Given the description of an element on the screen output the (x, y) to click on. 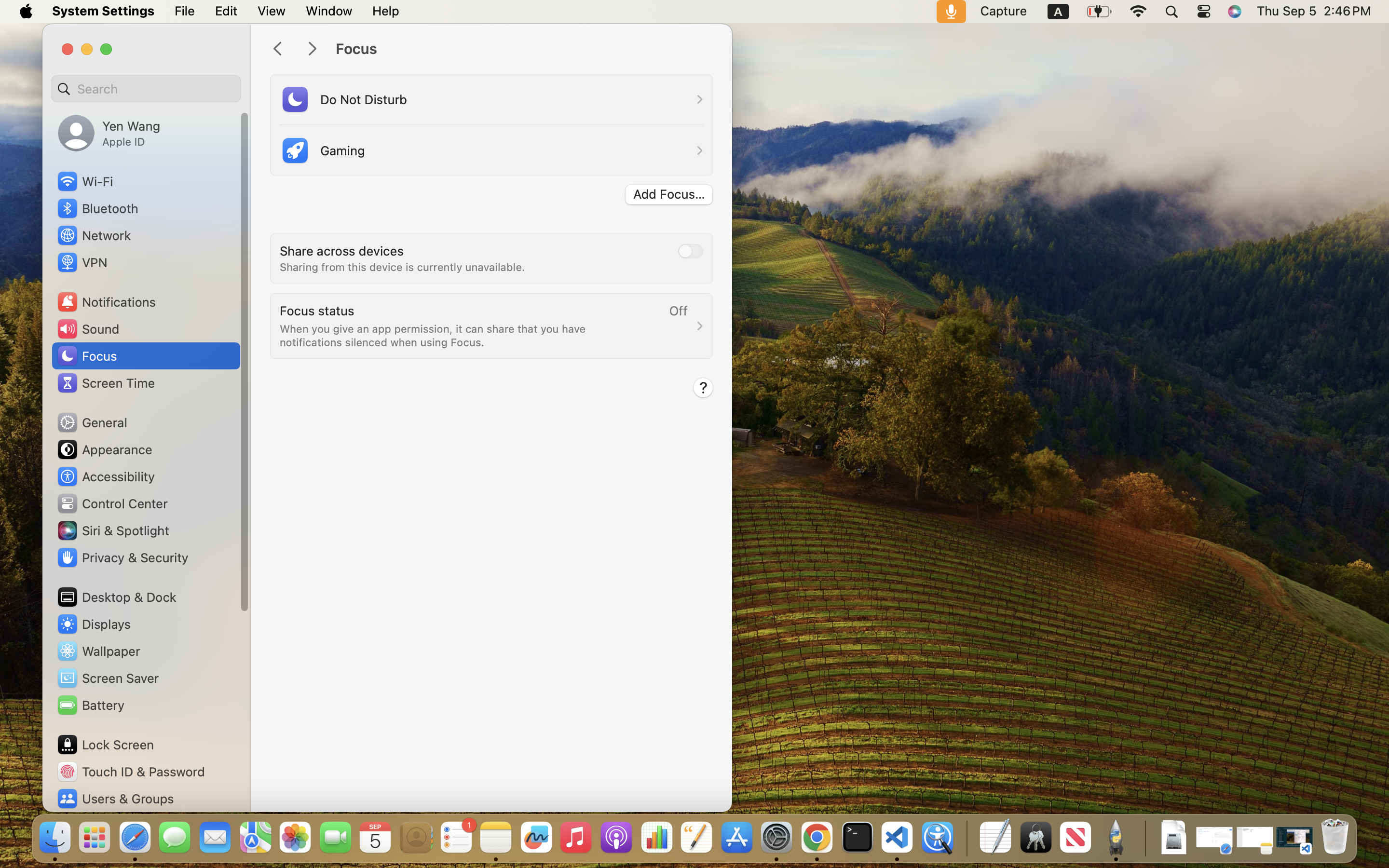
Accessibility Element type: AXStaticText (105, 476)
Wi‑Fi Element type: AXStaticText (83, 180)
Network Element type: AXStaticText (93, 234)
Lock Screen Element type: AXStaticText (104, 744)
Privacy & Security Element type: AXStaticText (121, 557)
